Given the description of an element on the screen output the (x, y) to click on. 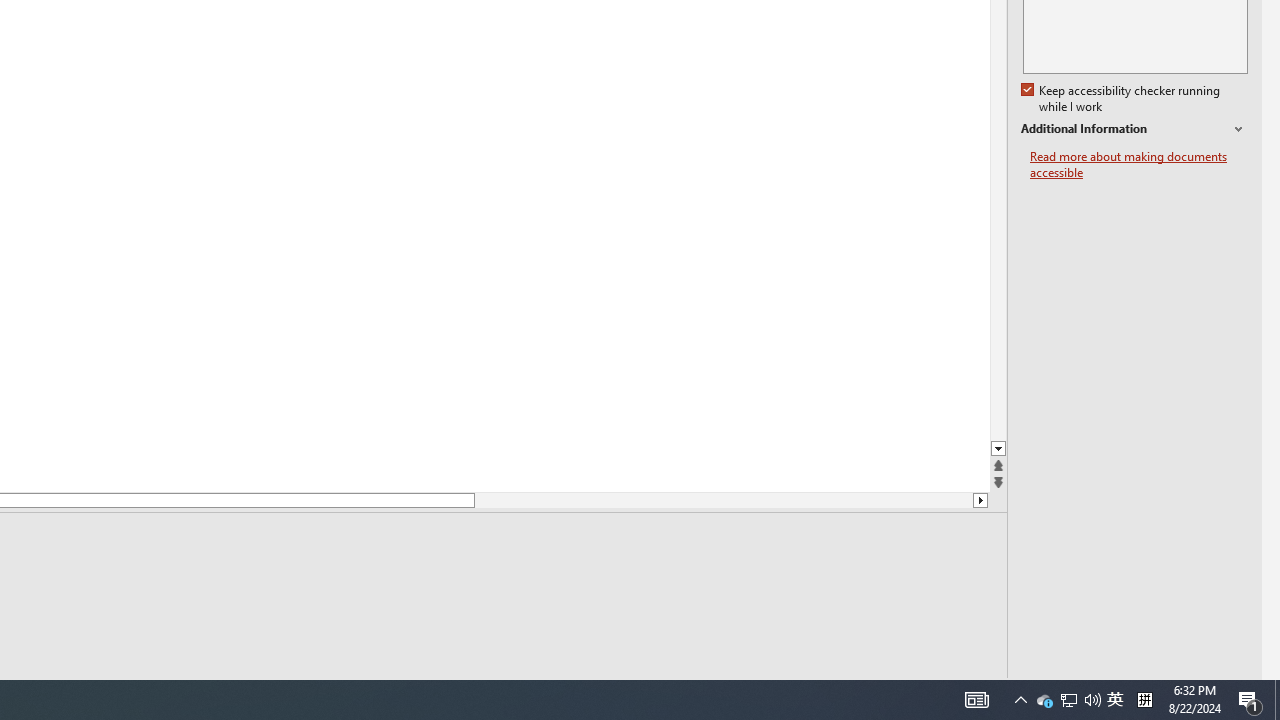
Show desktop (1277, 699)
Action Center, 1 new notification (1250, 699)
Additional Information (1134, 129)
Keep accessibility checker running while I work (1122, 99)
User Promoted Notification Area (1068, 699)
Slide Show Previous On (1115, 699)
AutomationID: 4105 (860, 691)
